Given the description of an element on the screen output the (x, y) to click on. 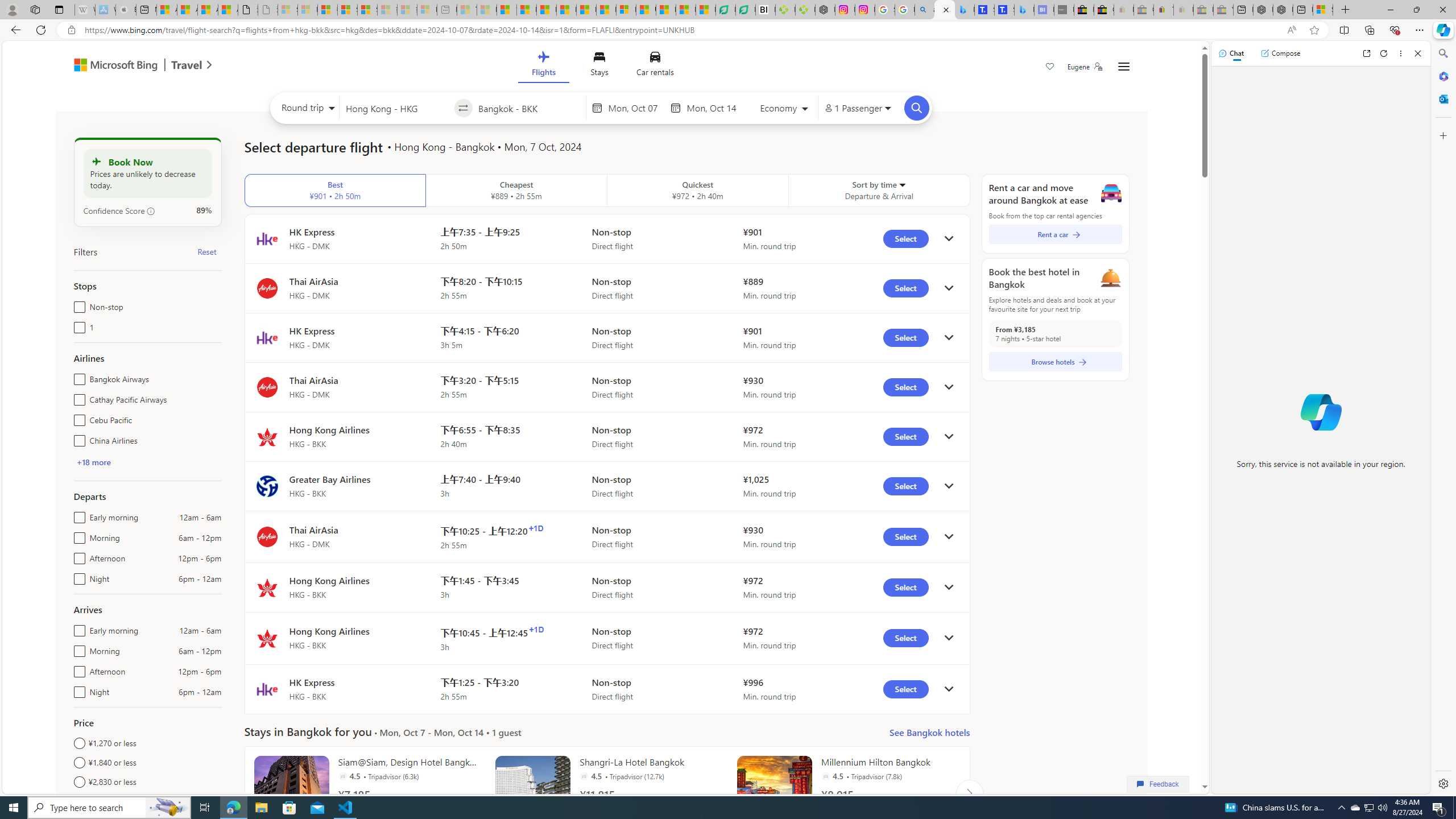
Early morning12am - 6am (76, 628)
Sorter (901, 184)
Microsoft Bing Travel (130, 65)
Chat (1231, 52)
End date (713, 107)
Safety in Our Products - Google Safety Center (884, 9)
